Given the description of an element on the screen output the (x, y) to click on. 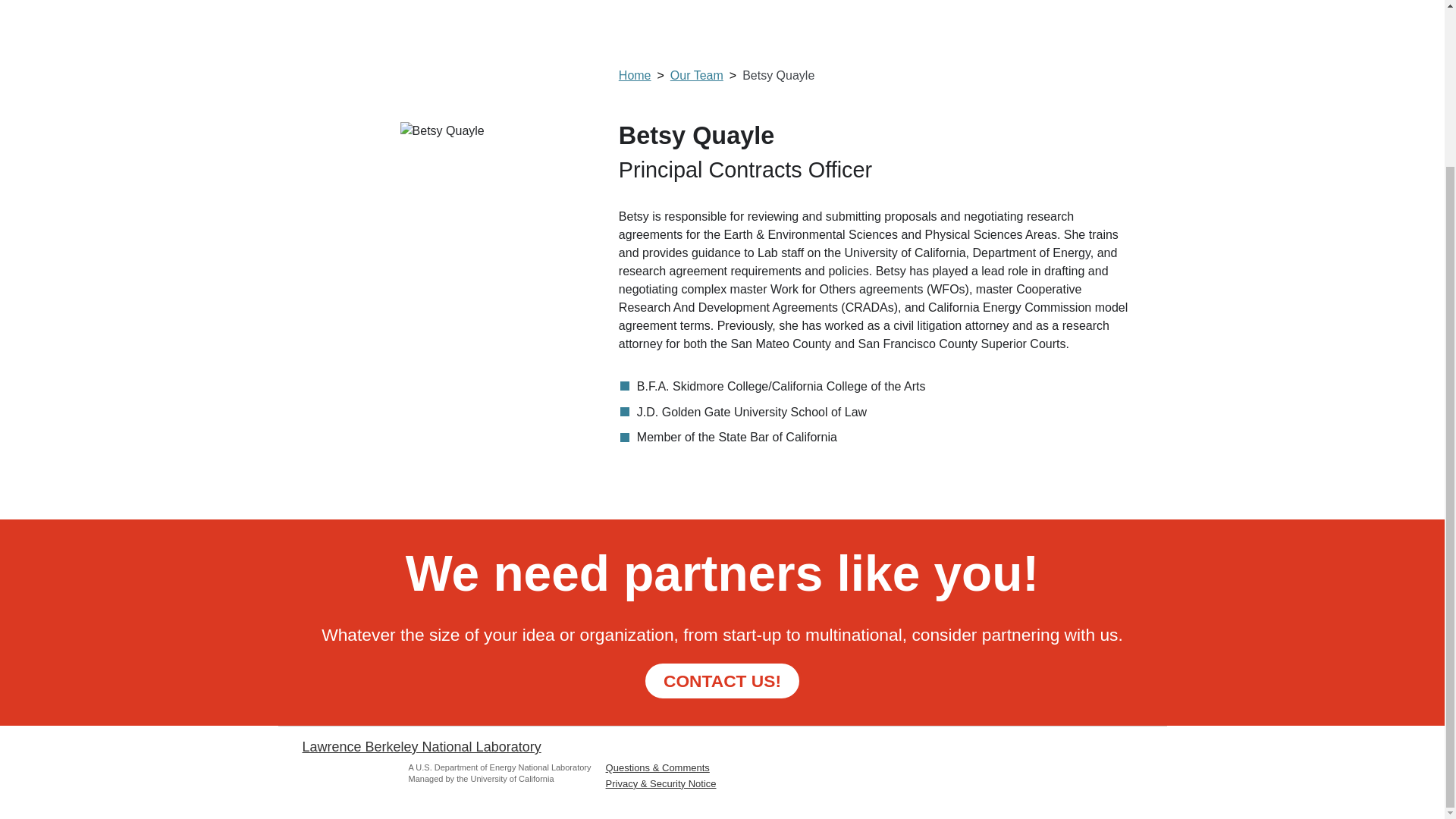
Our Team (705, 74)
CONTACT US! (722, 680)
Home (643, 74)
Lawrence Berkeley National Laboratory (420, 746)
